Given the description of an element on the screen output the (x, y) to click on. 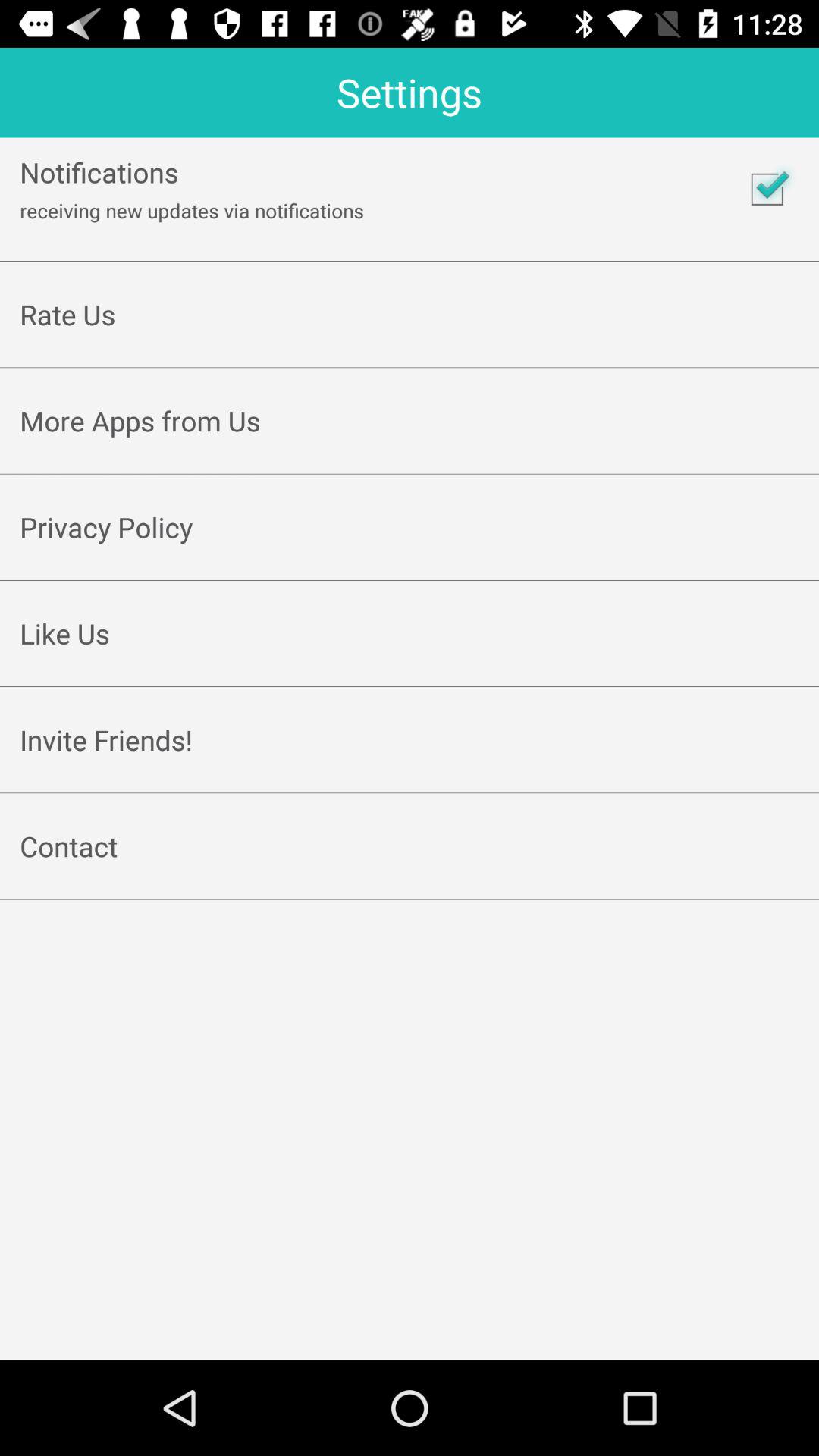
choose checkbox at the top right corner (767, 189)
